Given the description of an element on the screen output the (x, y) to click on. 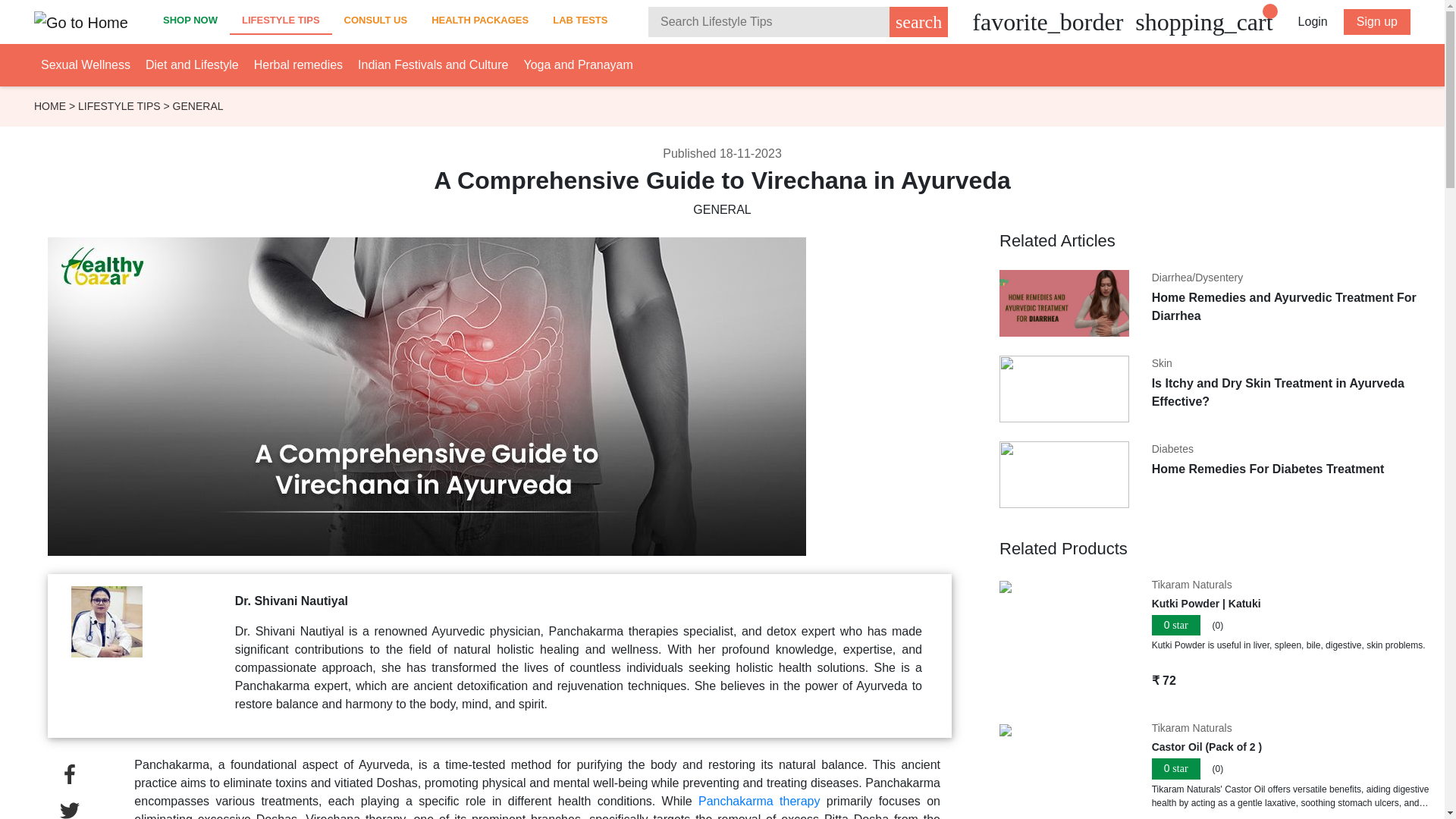
Herbal remedies (297, 64)
Sexual Wellness (85, 64)
Panchakarma therapy (758, 800)
search (918, 21)
Diet and Lifestyle (191, 64)
Sign up (1376, 22)
Login (1312, 22)
Yoga and Pranayam (576, 64)
Indian Festivals and Culture (433, 64)
